Given the description of an element on the screen output the (x, y) to click on. 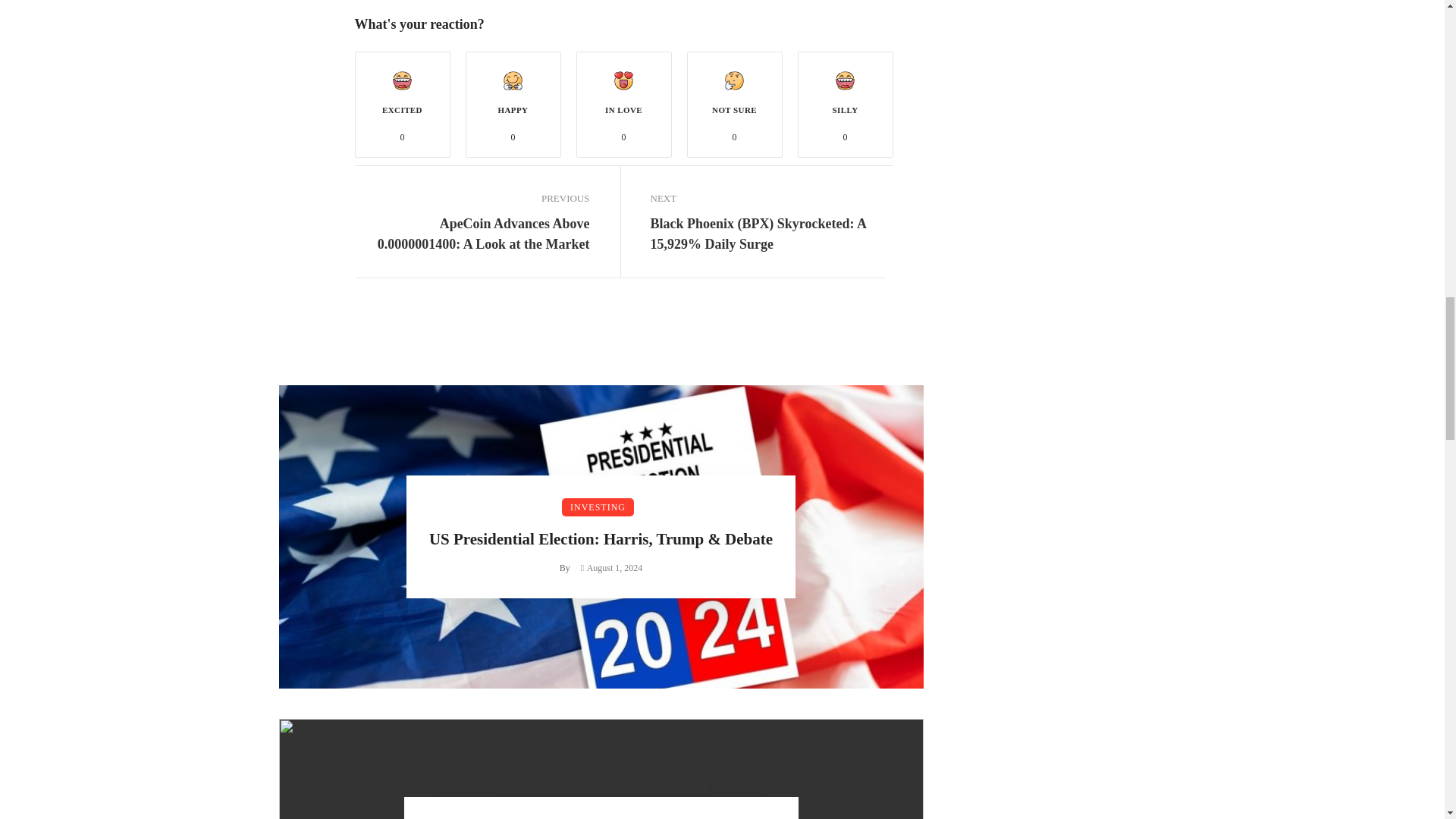
PREVIOUS (472, 198)
NEXT (767, 198)
INVESTING (597, 506)
ApeCoin Advances Above 0.0000001400: A Look at the Market (472, 233)
